Given the description of an element on the screen output the (x, y) to click on. 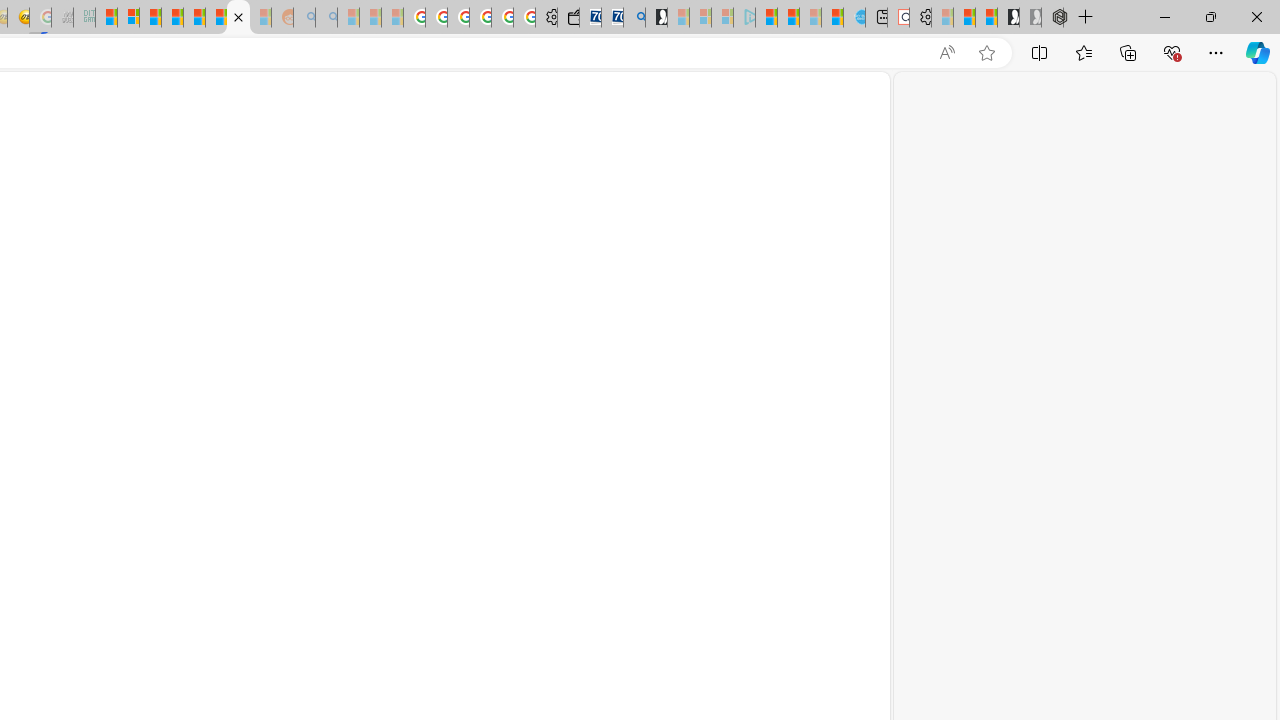
Student Loan Update: Forgiveness Program Ends This Month (172, 17)
